Given the description of an element on the screen output the (x, y) to click on. 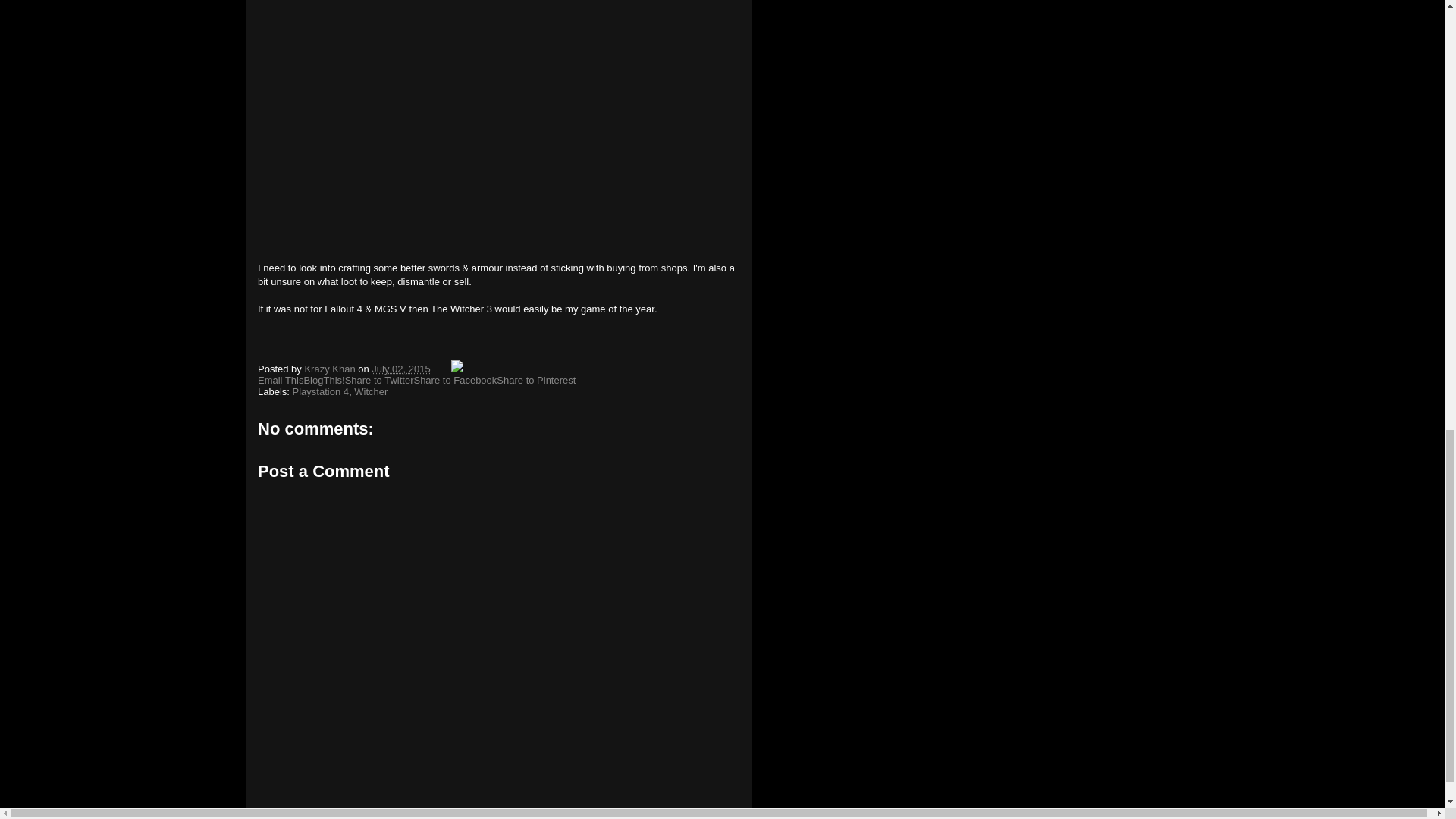
Share to Twitter (379, 379)
Share to Facebook (454, 379)
Share to Pinterest (535, 379)
Krazy Khan (331, 368)
Share to Pinterest (535, 379)
Witcher (370, 391)
BlogThis! (322, 379)
Email This (279, 379)
July 02, 2015 (400, 368)
Share to Twitter (379, 379)
